Given the description of an element on the screen output the (x, y) to click on. 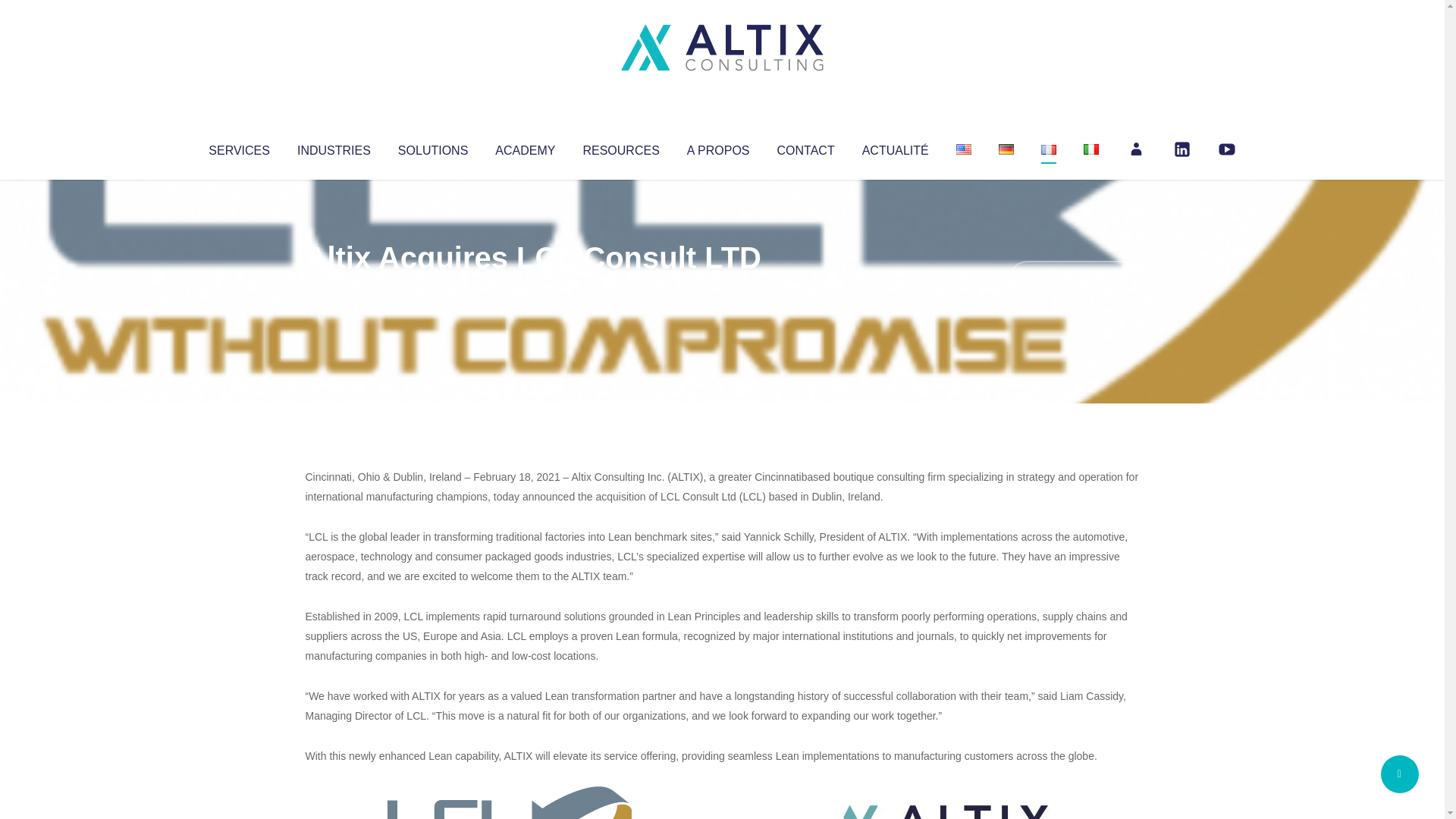
RESOURCES (620, 146)
Altix (333, 287)
INDUSTRIES (334, 146)
A PROPOS (718, 146)
Uncategorized (530, 287)
SOLUTIONS (432, 146)
Articles par Altix (333, 287)
No Comments (1073, 278)
SERVICES (238, 146)
ACADEMY (524, 146)
